Given the description of an element on the screen output the (x, y) to click on. 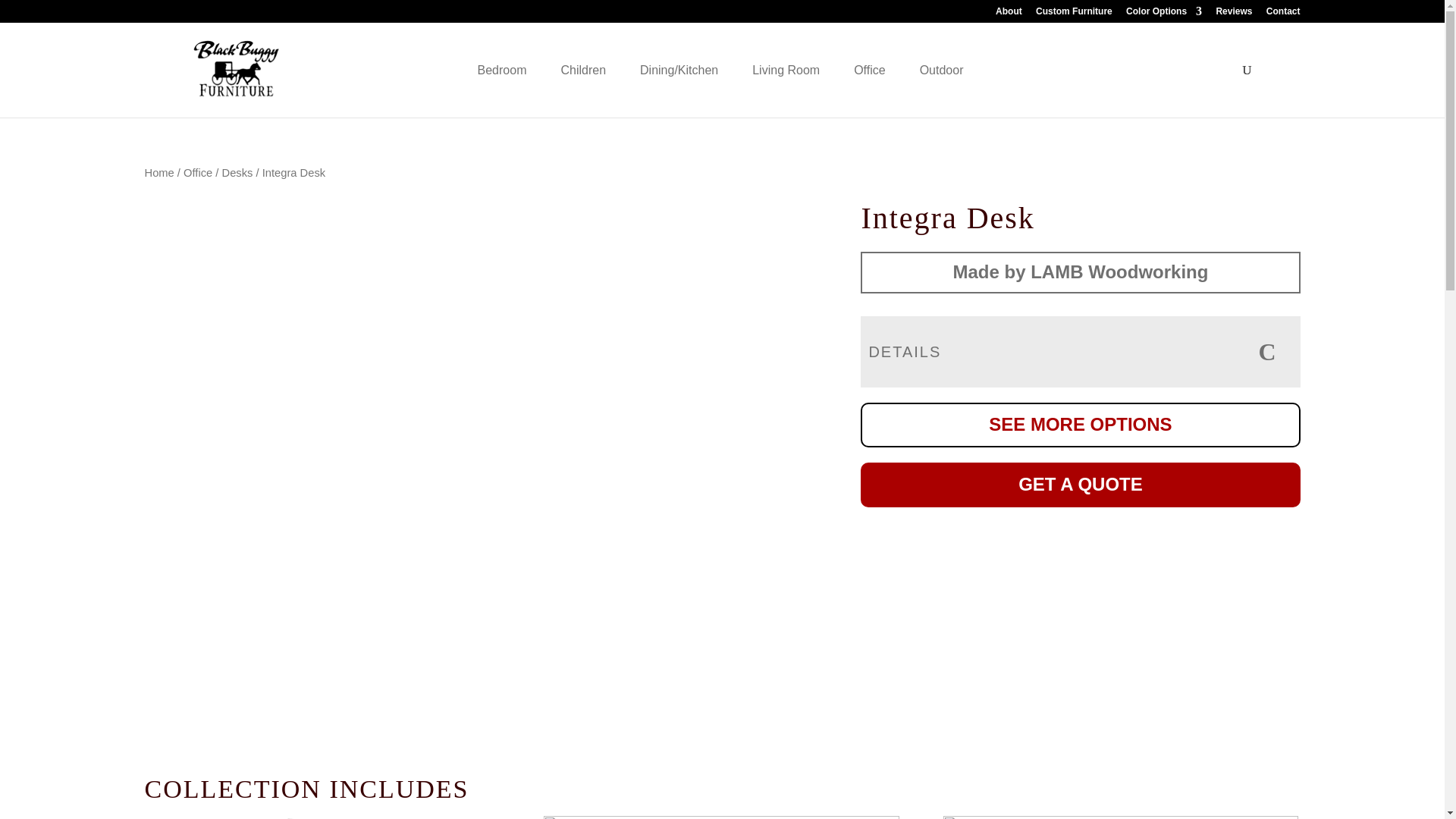
Custom Furniture (1073, 14)
Contact (1283, 14)
Reviews (1233, 14)
Color Options (1163, 14)
About (1008, 14)
View all posts in LAMB Woodworking (1080, 271)
Bedroom (504, 69)
